Given the description of an element on the screen output the (x, y) to click on. 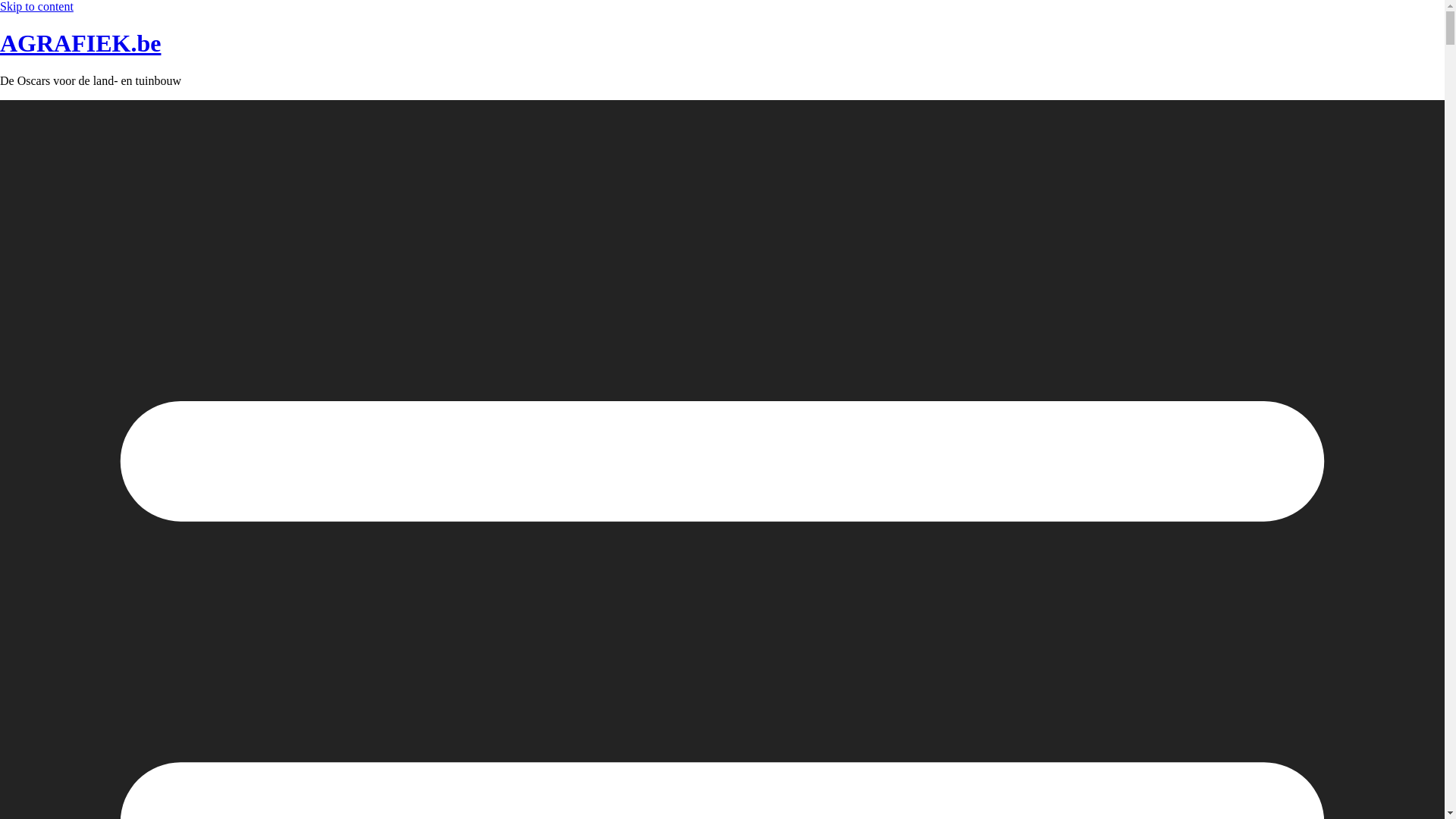
AGRAFIEK.be Element type: text (80, 42)
Skip to content Element type: text (36, 6)
